Given the description of an element on the screen output the (x, y) to click on. 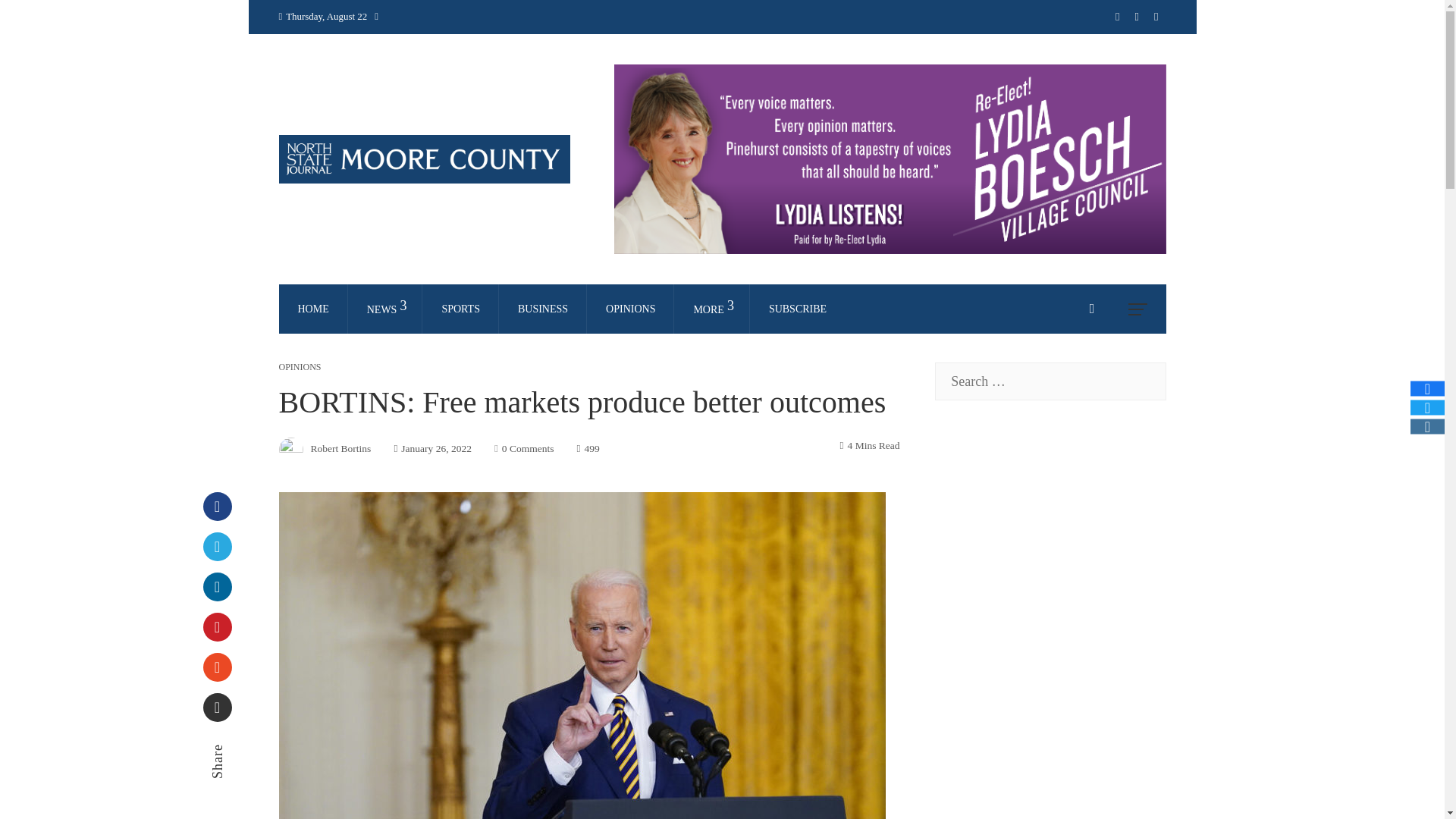
SPORTS (460, 308)
OPINIONS (630, 308)
Twitter (217, 546)
Facebook (217, 506)
NEWS (384, 309)
BUSINESS (542, 308)
Stumbleupon (217, 666)
LinkedIn (217, 586)
HOME (313, 308)
Pinterest (217, 626)
